Given the description of an element on the screen output the (x, y) to click on. 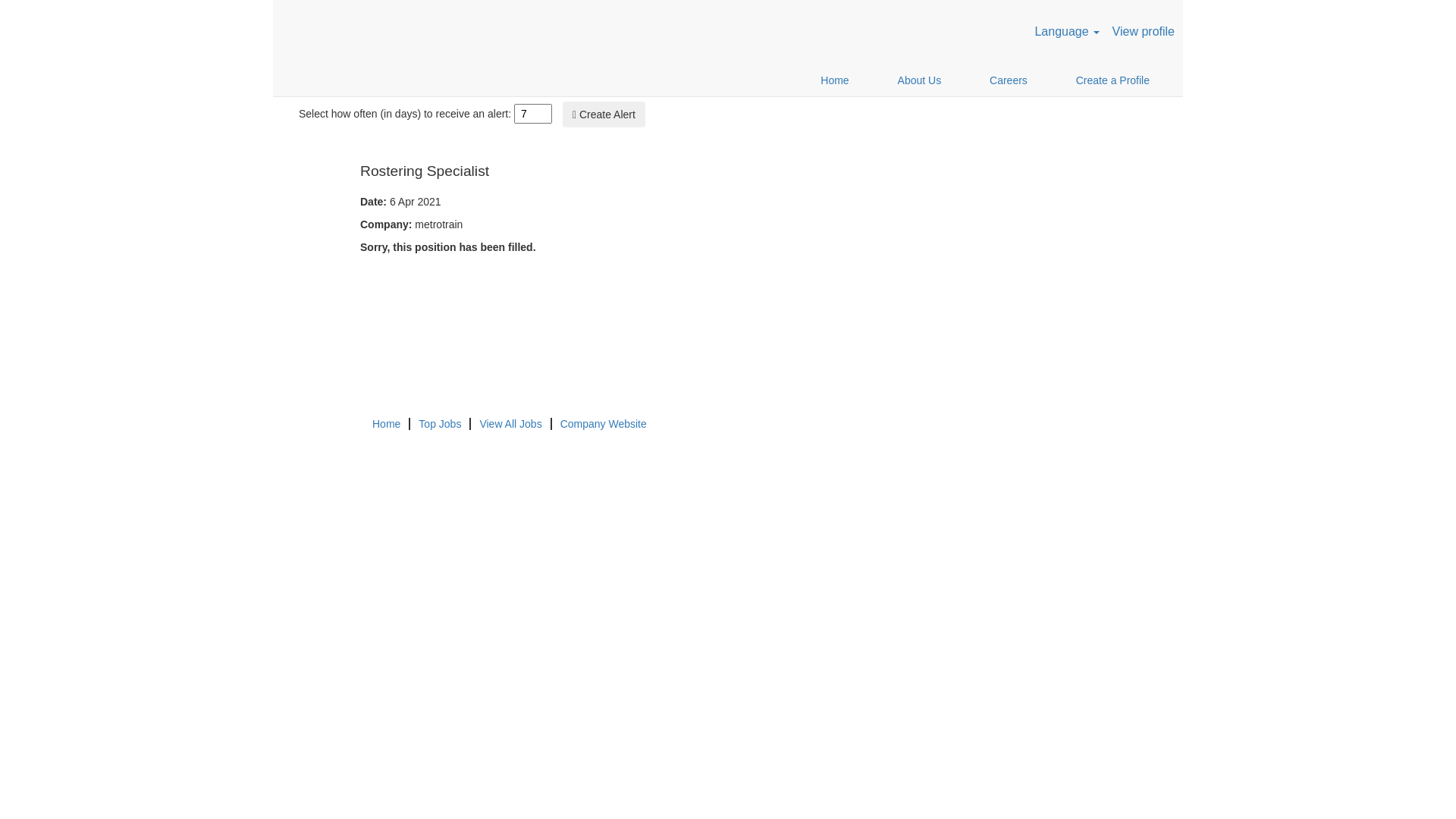
Company Website Element type: text (603, 423)
View profile Element type: text (1143, 31)
Clear Element type: text (966, 62)
Metro Element type: hover (386, 32)
About Us Element type: text (919, 80)
Home Element type: text (386, 423)
Search Jobs Element type: text (1006, 42)
View All Jobs Element type: text (510, 423)
Home Element type: text (834, 80)
Create a Profile Element type: text (1112, 80)
Language Element type: text (1066, 31)
Create Alert Element type: text (603, 114)
Top Jobs Element type: text (439, 423)
Careers Element type: text (1008, 80)
